Given the description of an element on the screen output the (x, y) to click on. 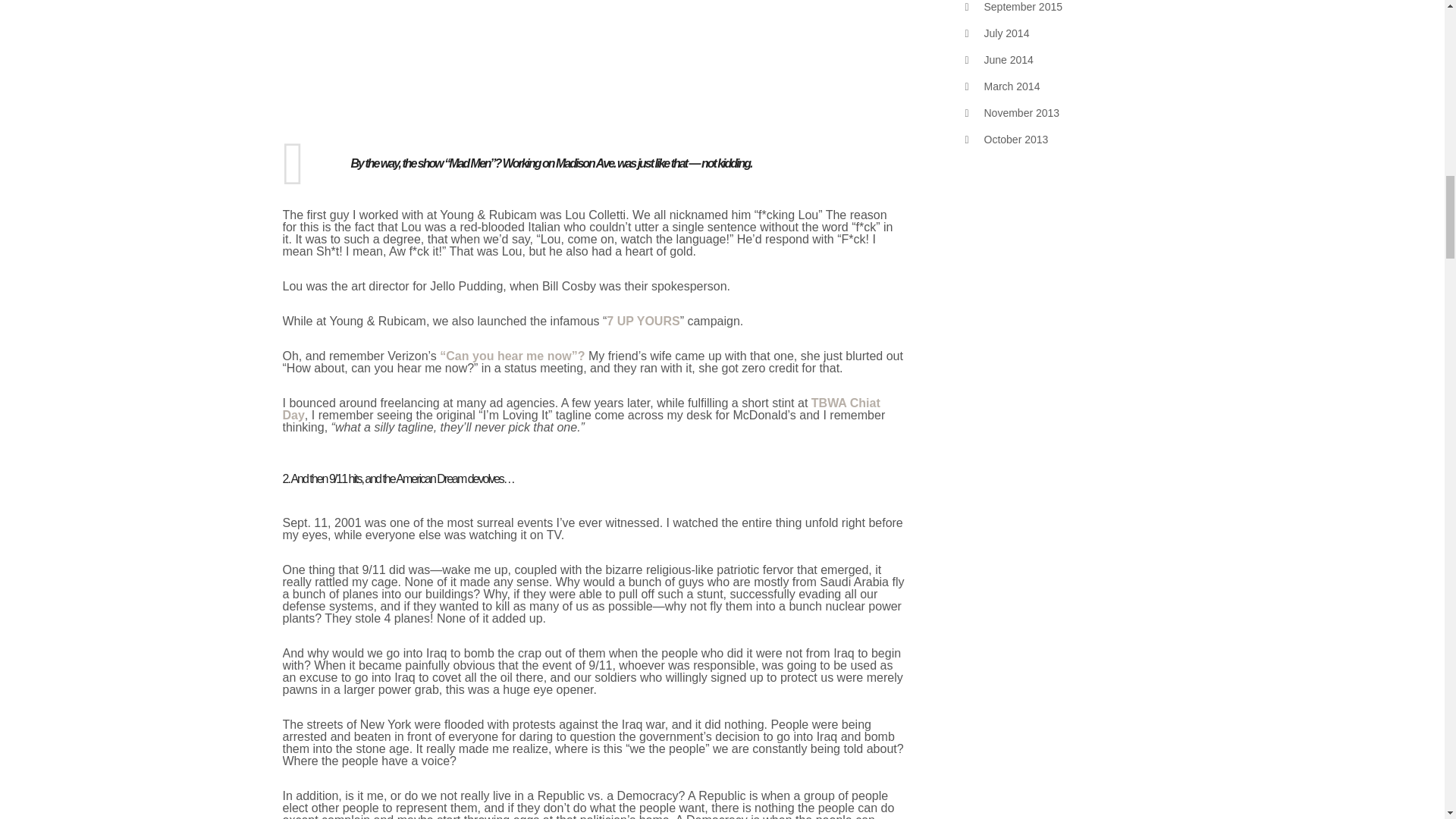
TBWA Chiat Day (580, 408)
7 UP YOURS (643, 320)
